Given the description of an element on the screen output the (x, y) to click on. 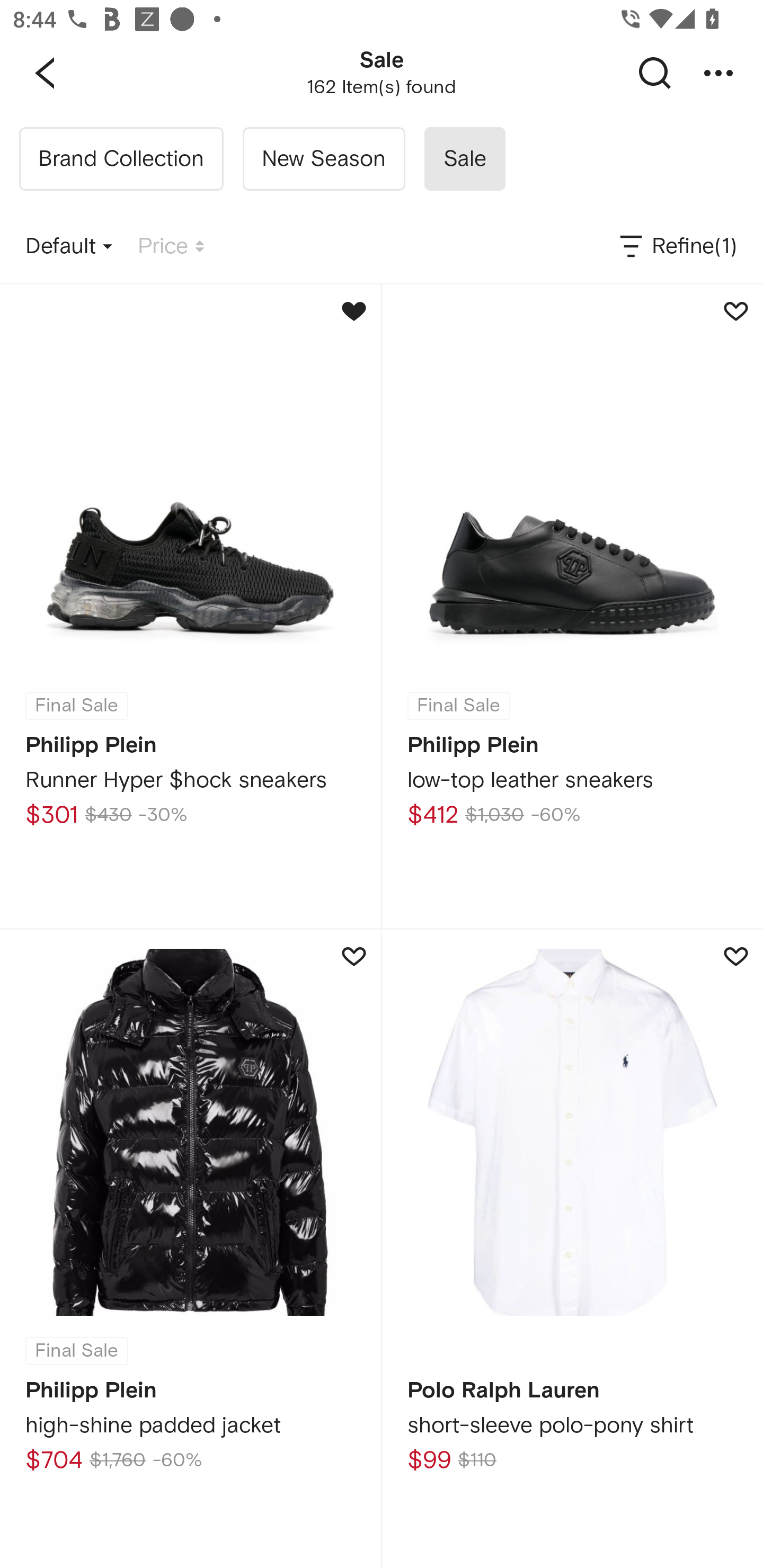
Brand Collection (121, 158)
New Season (323, 158)
Sale (464, 158)
Default (68, 246)
Price (171, 246)
Refine(1) (677, 246)
